Given the description of an element on the screen output the (x, y) to click on. 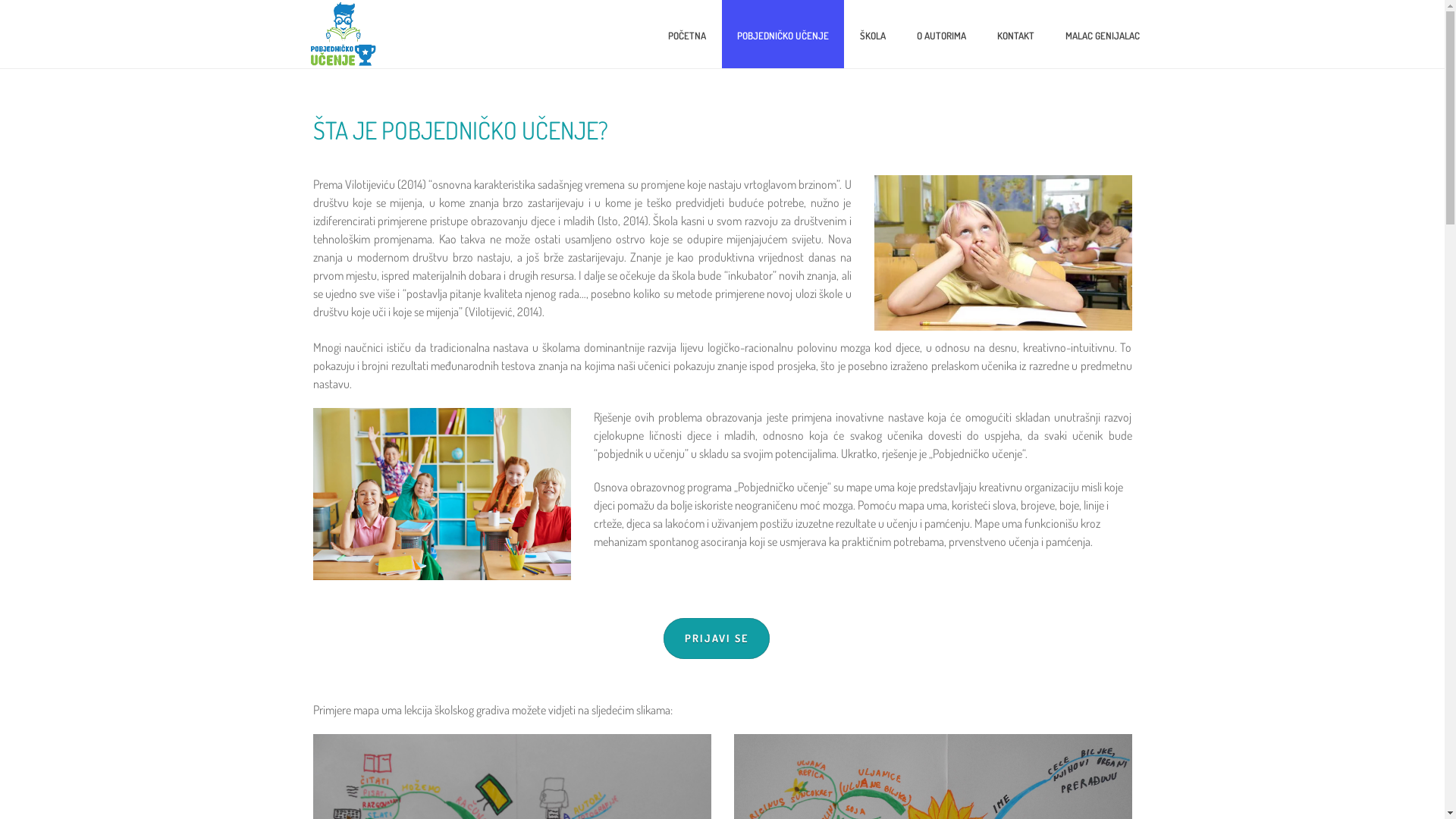
slika-1. Element type: hover (1002, 253)
MALAC GENIJALAC Element type: text (1101, 34)
KONTAKT Element type: text (1014, 34)
slika-2. Element type: hover (441, 493)
O AUTORIMA Element type: text (940, 34)
PRIJAVI SE Element type: text (716, 638)
